Given the description of an element on the screen output the (x, y) to click on. 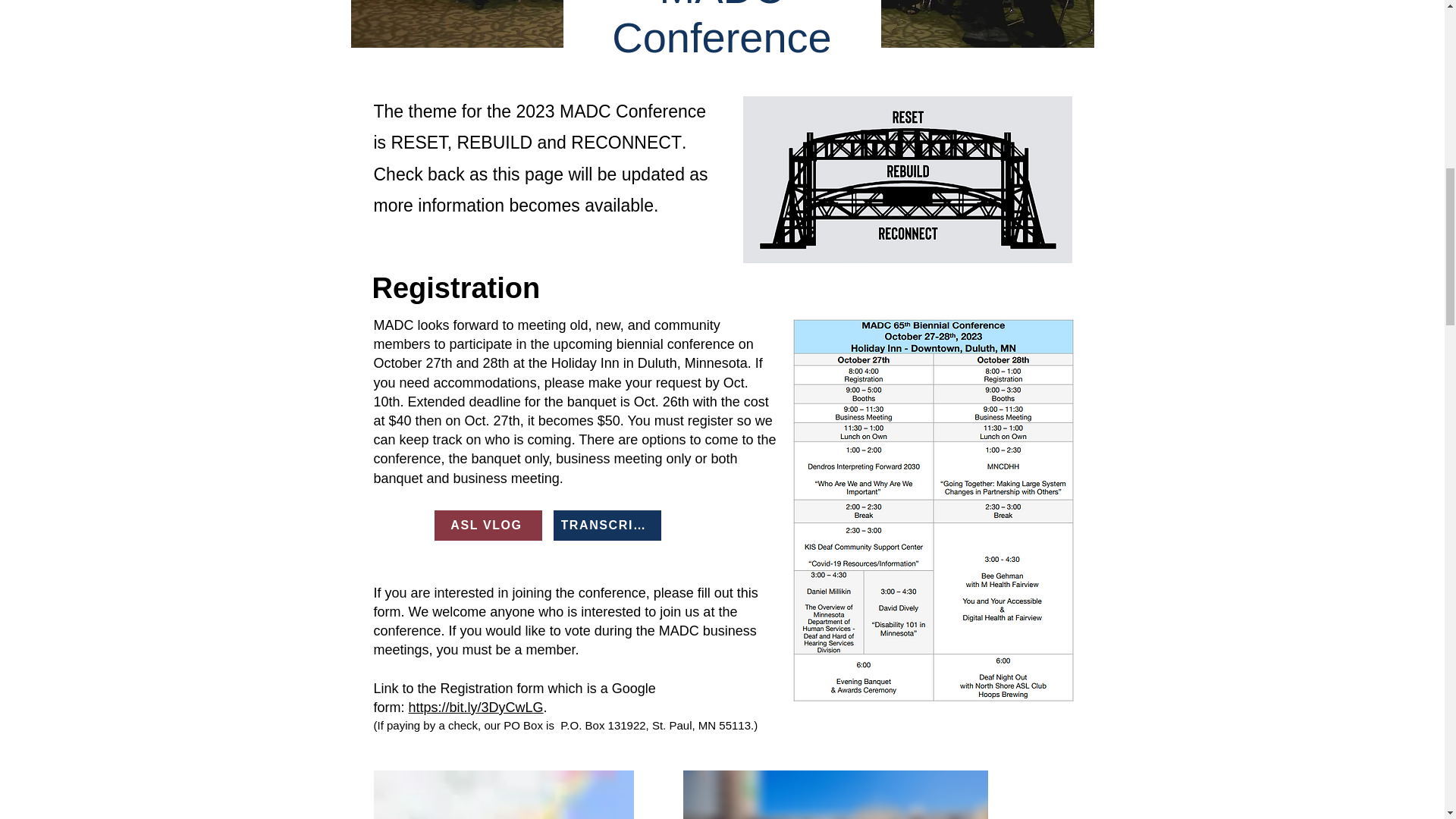
ASL VLOG (487, 525)
TRANSCRIPT (607, 525)
